Given the description of an element on the screen output the (x, y) to click on. 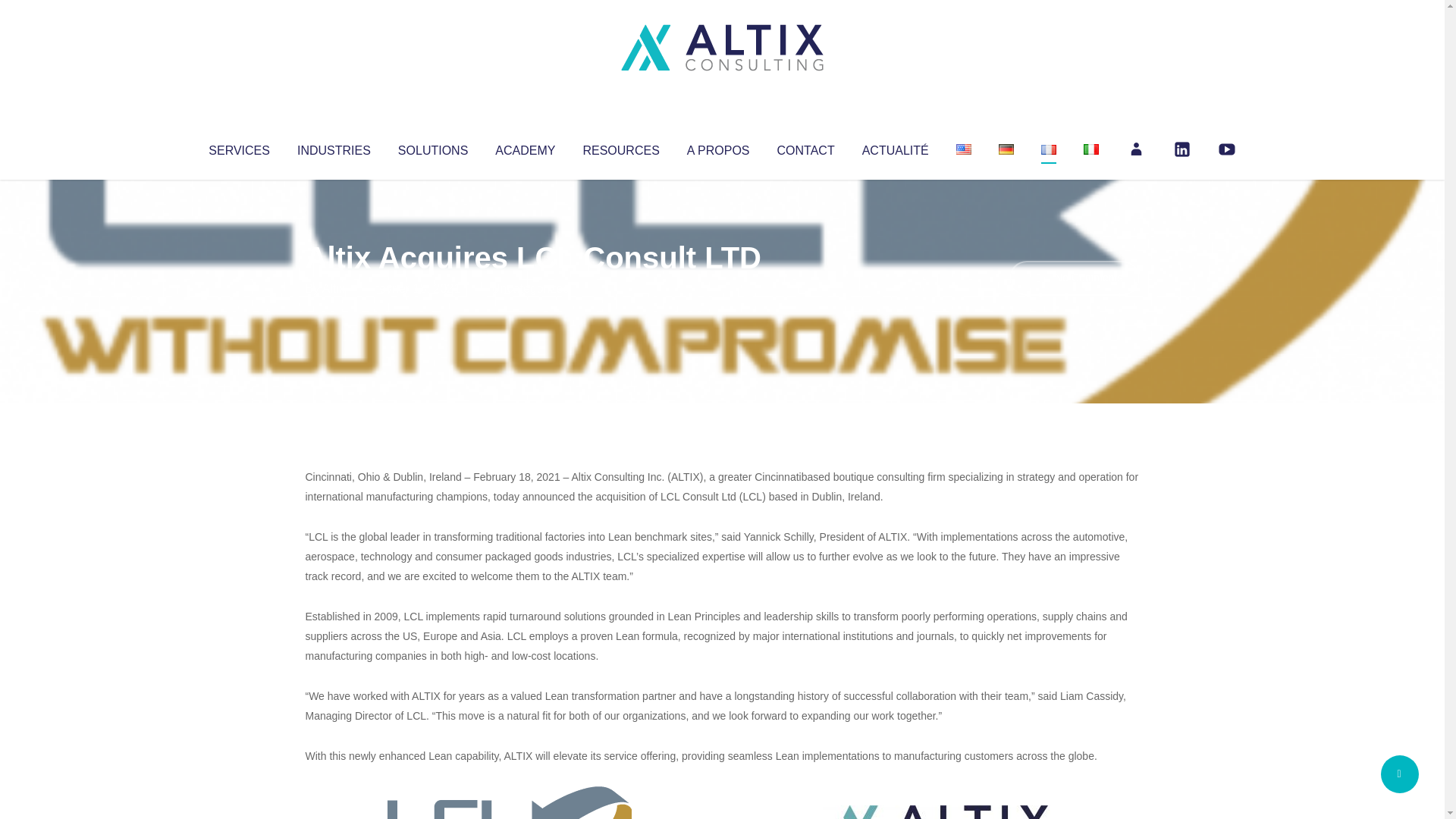
SERVICES (238, 146)
Articles par Altix (333, 287)
A PROPOS (718, 146)
Altix (333, 287)
RESOURCES (620, 146)
ACADEMY (524, 146)
INDUSTRIES (334, 146)
Uncategorized (530, 287)
No Comments (1073, 278)
SOLUTIONS (432, 146)
